Given the description of an element on the screen output the (x, y) to click on. 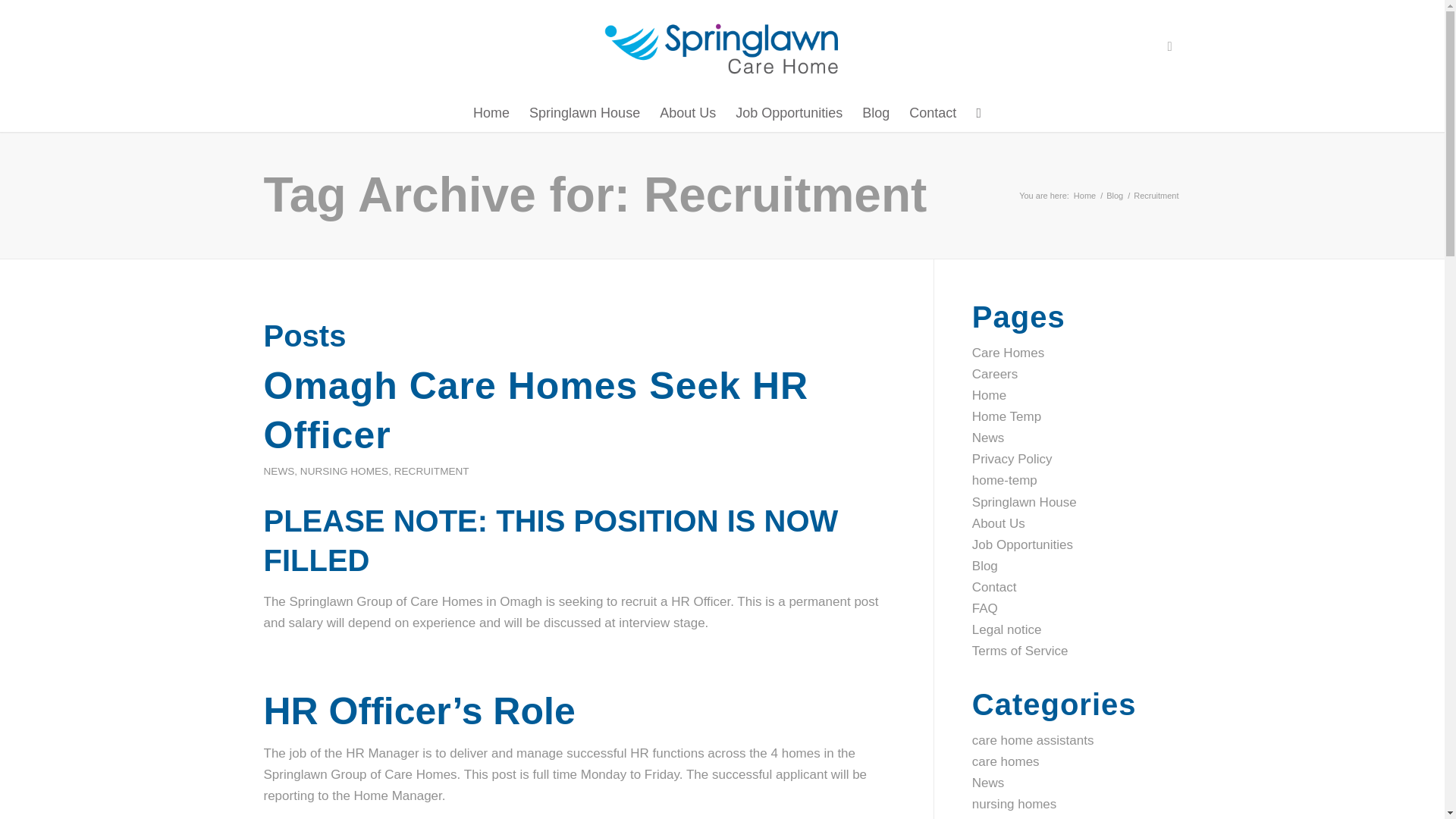
Blog (984, 565)
FAQ (984, 608)
Job Opportunities (788, 112)
Blog (875, 112)
NURSING HOMES (343, 471)
Care Homes (1007, 352)
Home (1084, 195)
Omagh Care Homes Seek HR Officer (536, 410)
Careers (994, 373)
RECRUITMENT (431, 471)
care homes (1005, 761)
Home Temp (1006, 416)
About Us (687, 112)
Home (989, 395)
Springlawn House (1024, 502)
